Given the description of an element on the screen output the (x, y) to click on. 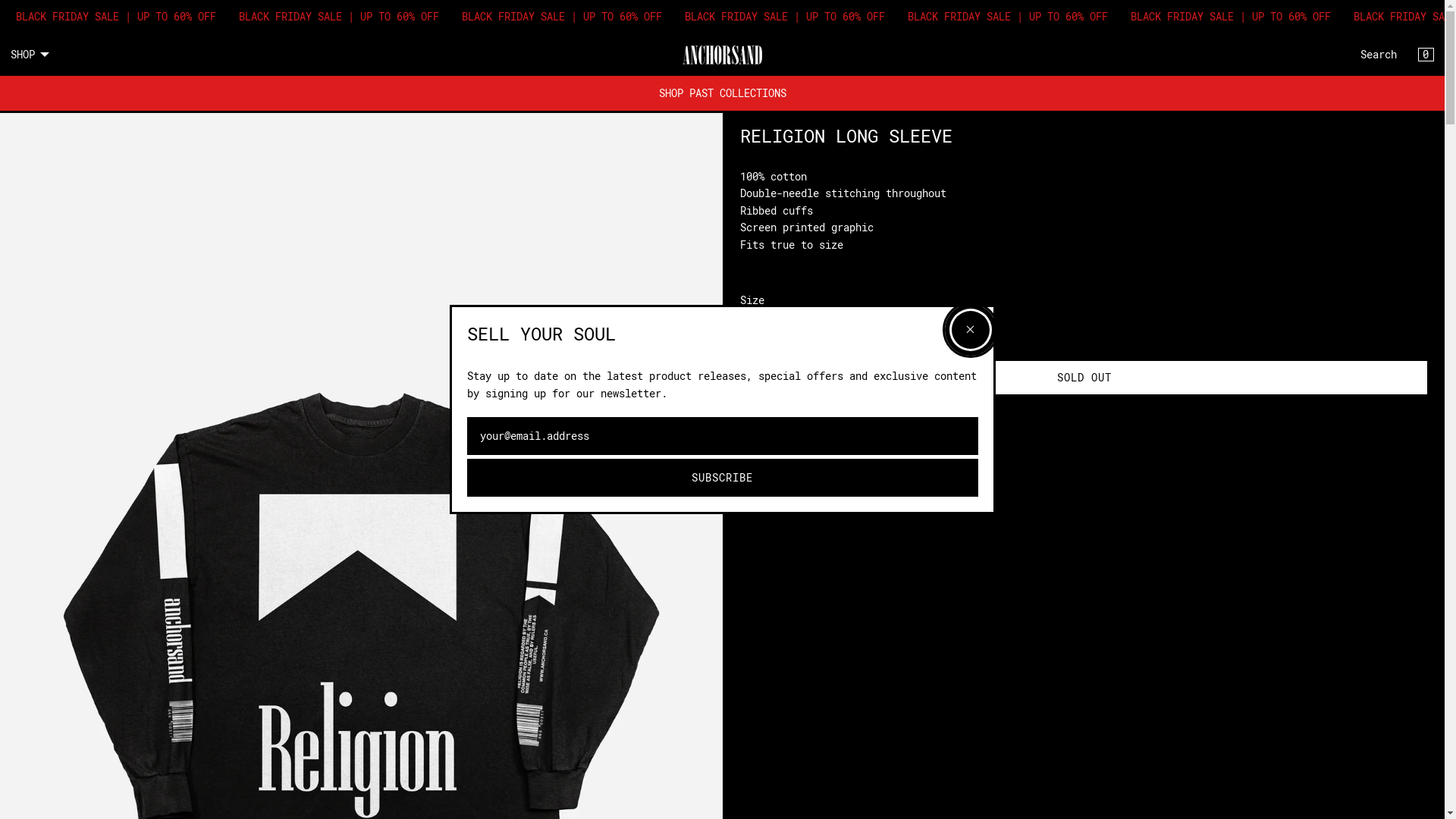
SHOP PAST COLLECTIONS Element type: text (722, 93)
cancel Element type: text (969, 329)
Search Element type: text (1378, 54)
SOLD OUT Element type: text (1085, 377)
CART
0 Element type: text (1425, 54)
CLOSE Element type: text (1421, 52)
SUBSCRIBE Element type: text (722, 477)
